Given the description of an element on the screen output the (x, y) to click on. 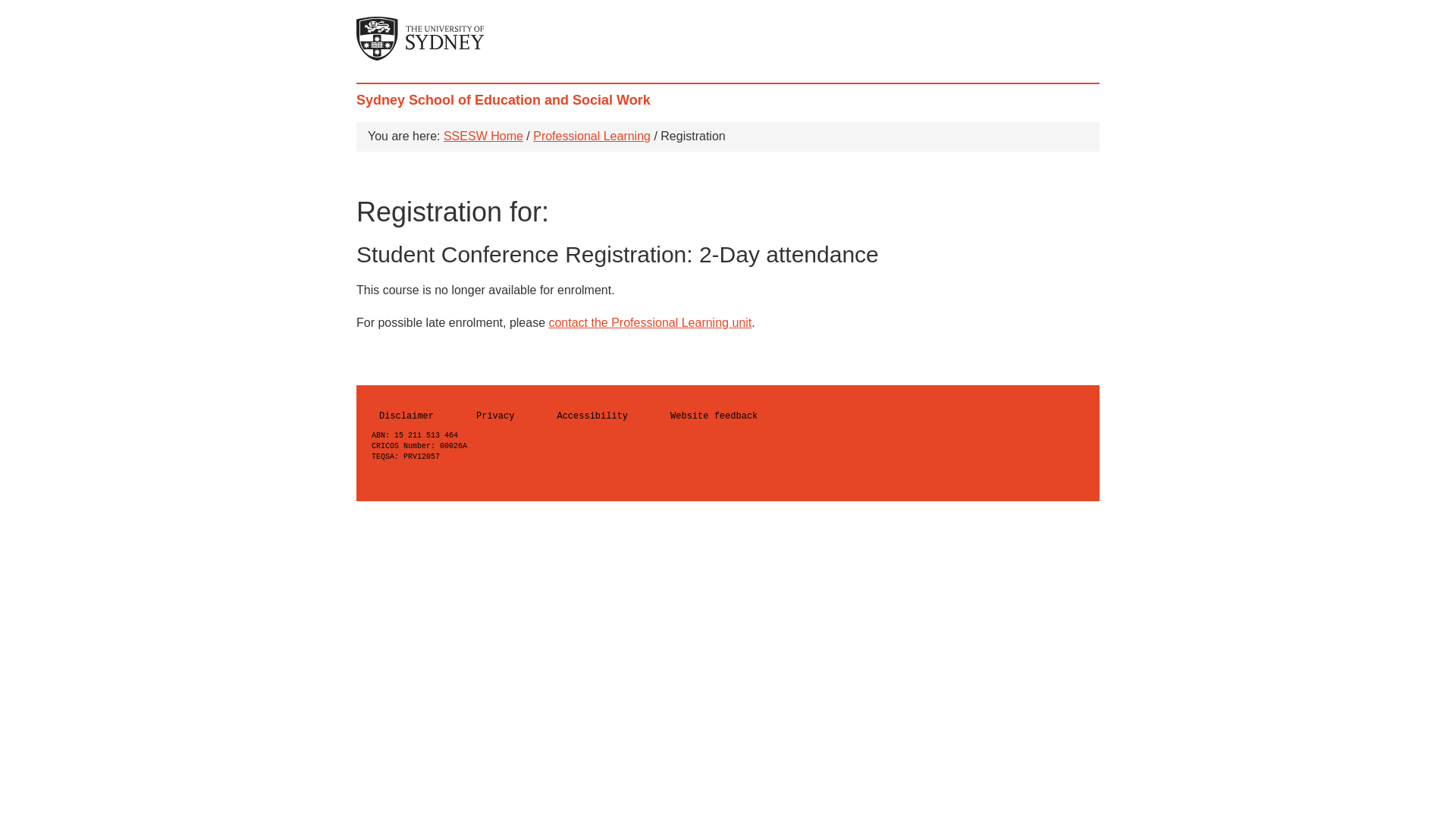
Accessibility Element type: text (613, 416)
Sydney School of Education and Social Work Element type: text (503, 97)
contact the Professional Learning unit Element type: text (649, 322)
SSESW Home Element type: text (483, 135)
Professional Learning Element type: text (591, 135)
Website feedback Element type: text (735, 416)
Disclaimer Element type: text (427, 416)
Privacy Element type: text (516, 416)
